Given the description of an element on the screen output the (x, y) to click on. 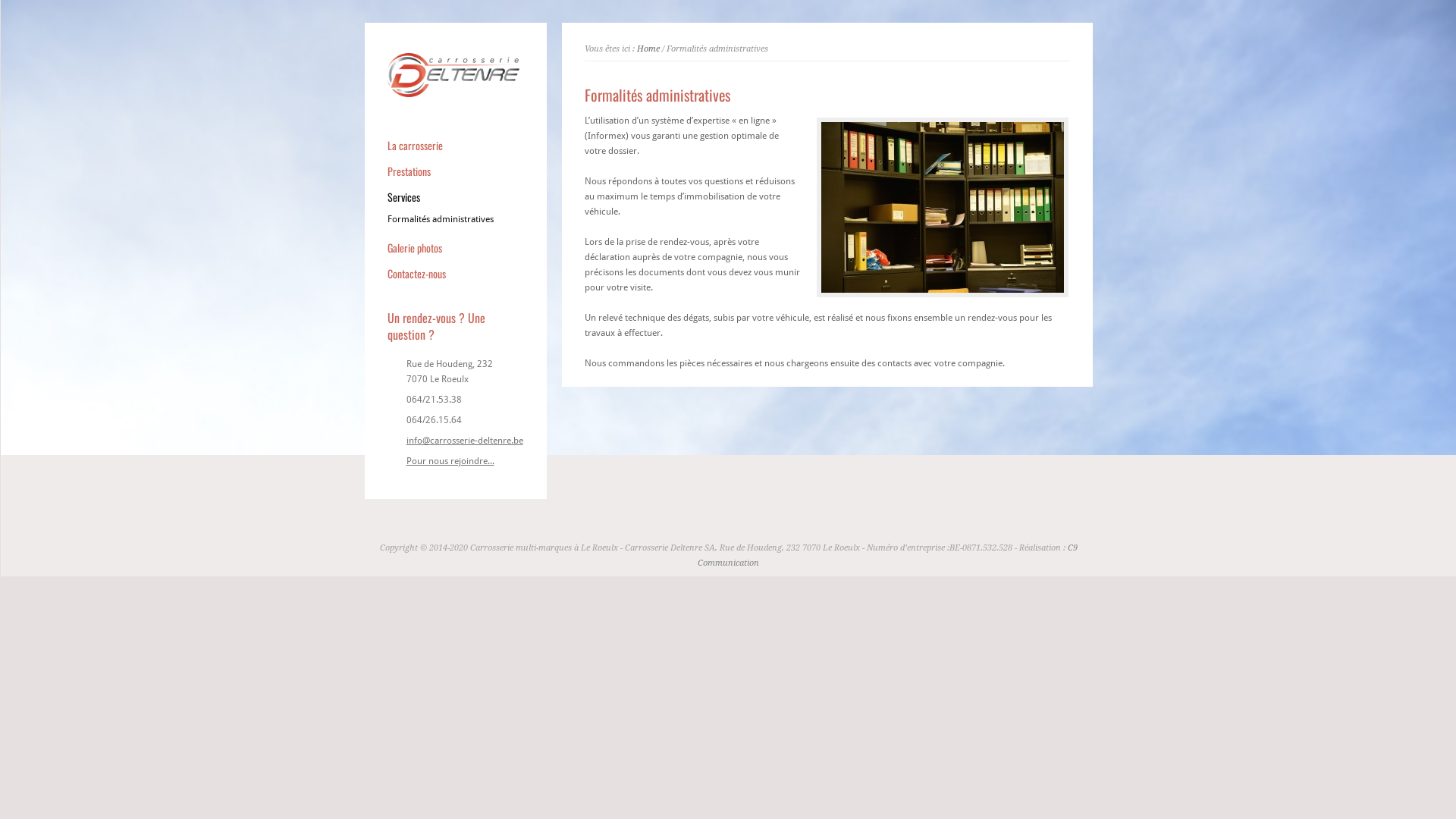
Home Element type: text (648, 48)
Contactez-nous Element type: text (454, 273)
Services Element type: text (454, 196)
La carrosserie Element type: text (454, 145)
Pour nous rejoindre... Element type: text (464, 460)
Galerie photos Element type: text (454, 247)
Prestations Element type: text (454, 171)
info@carrosserie-deltenre.be Element type: text (464, 440)
C9 Communication Element type: text (887, 554)
